Given the description of an element on the screen output the (x, y) to click on. 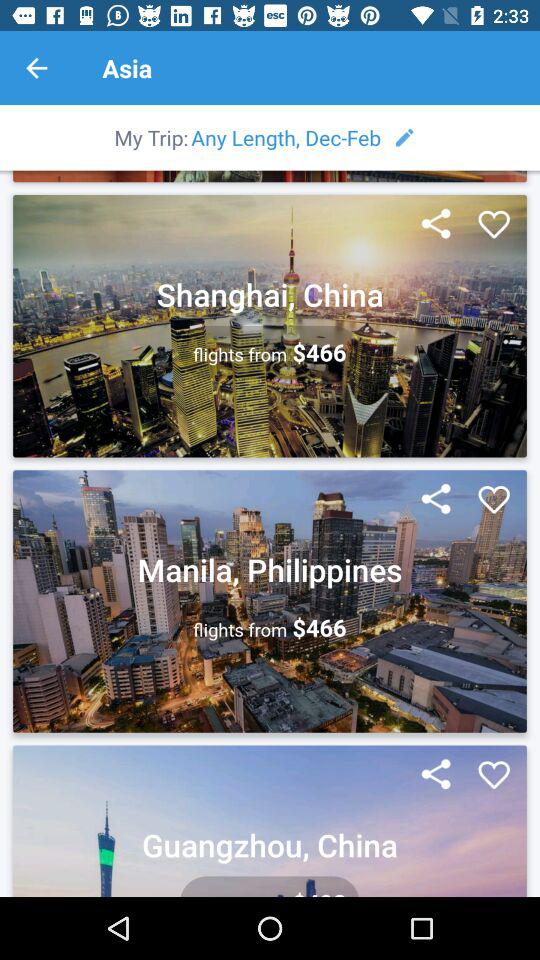
share the selected cards (435, 225)
